Given the description of an element on the screen output the (x, y) to click on. 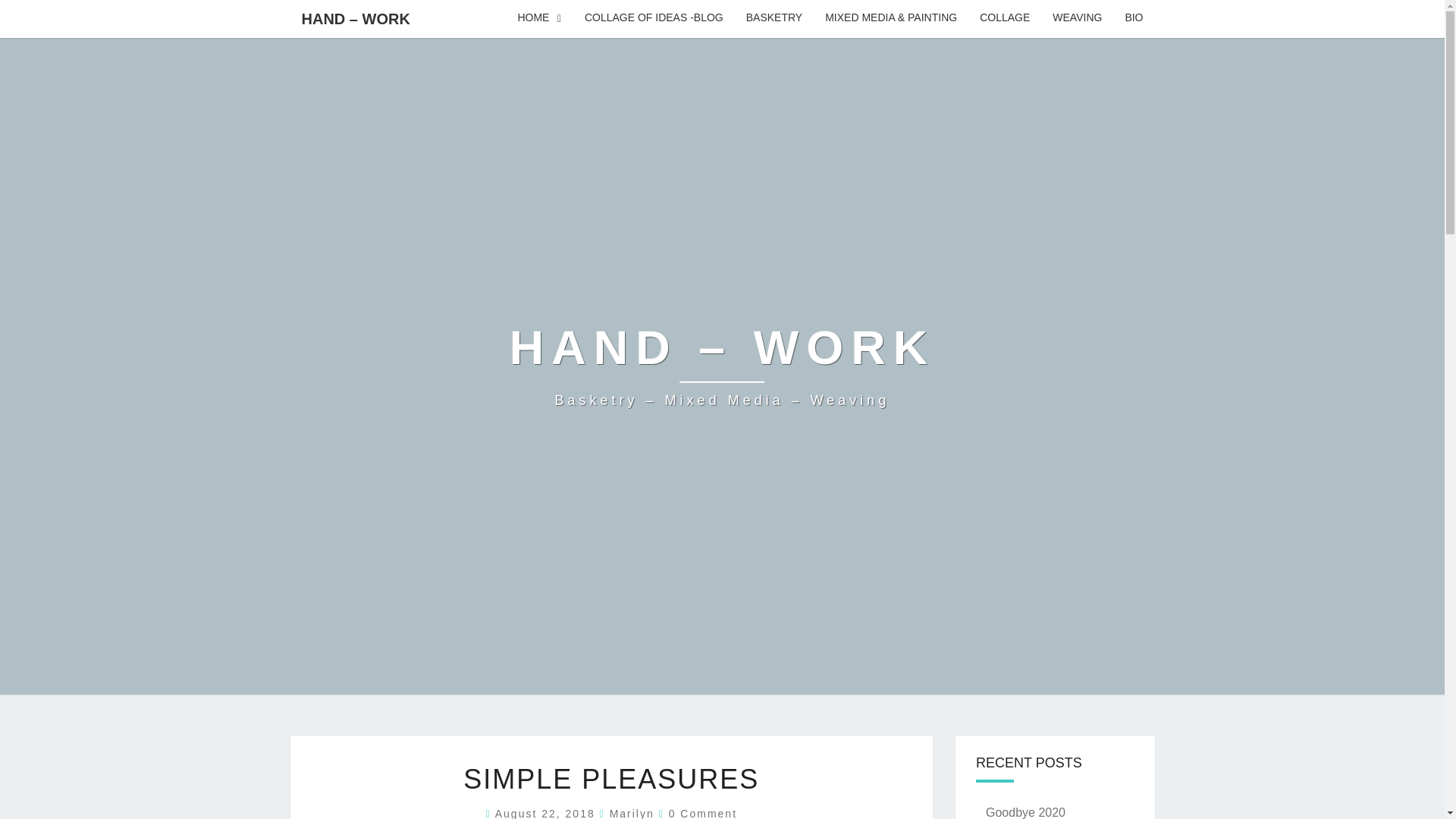
August 22, 2018 (547, 813)
HOME (539, 18)
WEAVING (1077, 18)
0 Comment (702, 813)
7:00 am (547, 813)
COLLAGE (1004, 18)
View all posts by Marilyn (631, 813)
COLLAGE OF IDEAS -BLOG (654, 18)
Marilyn (631, 813)
BASKETRY (774, 18)
